Given the description of an element on the screen output the (x, y) to click on. 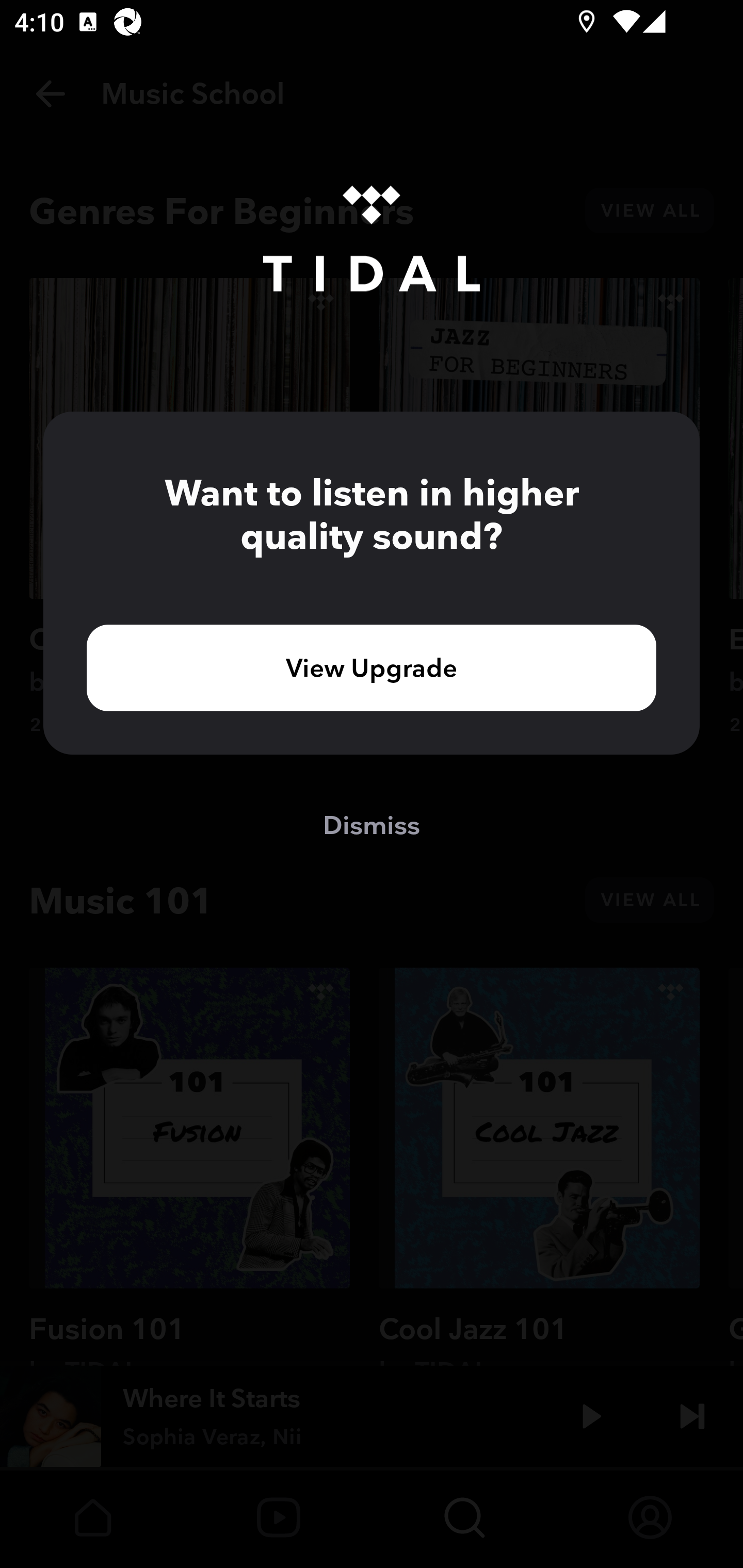
View Upgrade (371, 667)
Dismiss (371, 824)
